Given the description of an element on the screen output the (x, y) to click on. 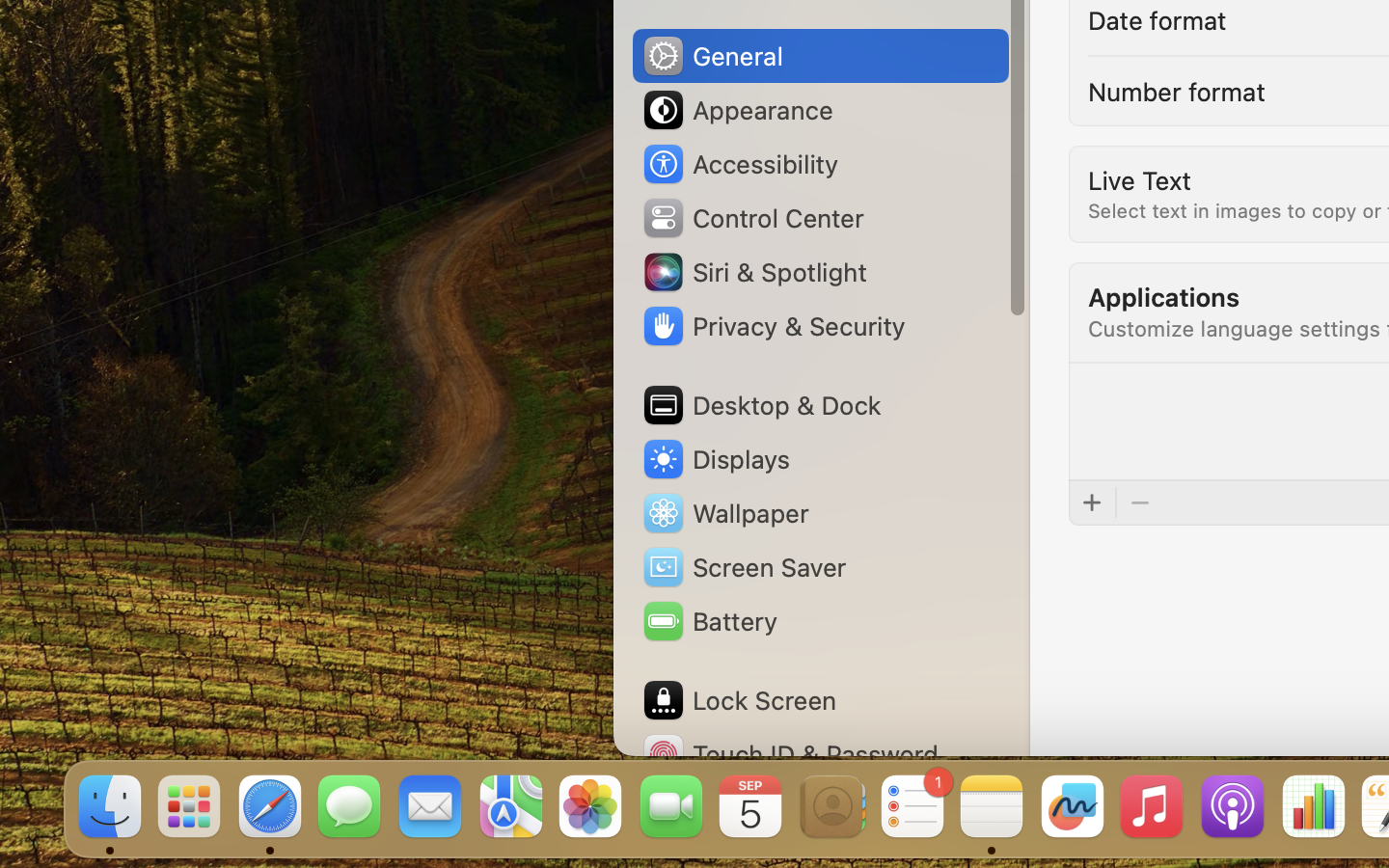
Desktop & Dock Element type: AXStaticText (760, 404)
Wallpaper Element type: AXStaticText (724, 512)
Privacy & Security Element type: AXStaticText (772, 325)
Lock Screen Element type: AXStaticText (738, 700)
General Element type: AXStaticText (711, 55)
